Given the description of an element on the screen output the (x, y) to click on. 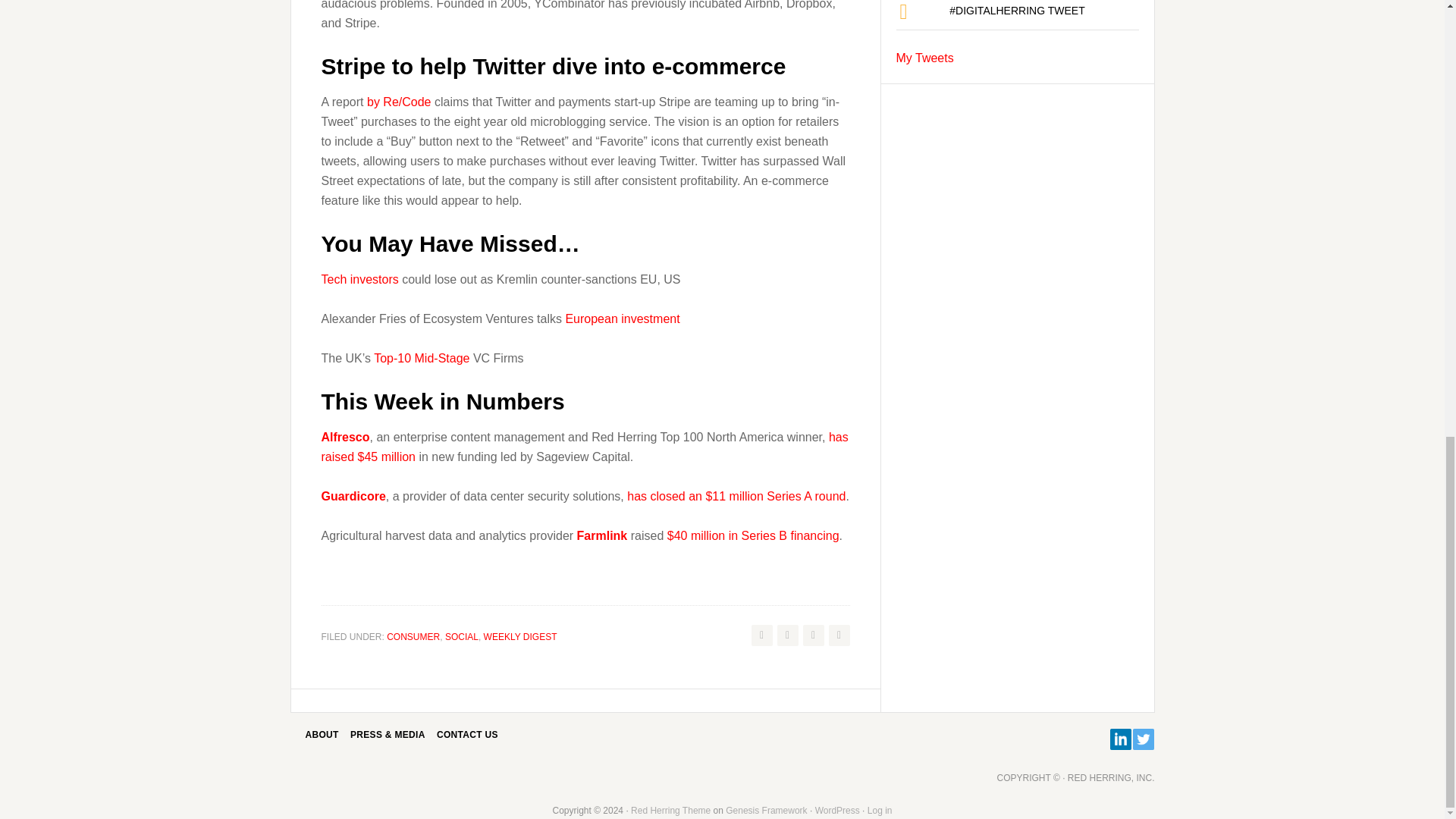
ABOUT (320, 734)
Share on LinkedIn (838, 635)
SOCIAL (462, 636)
WEEKLY DIGEST (520, 636)
Alfresco (345, 436)
My Tweets (924, 57)
Guardicore (353, 495)
Share on Facebook (786, 635)
CONSUMER (413, 636)
Top-10 Mid-Stage (421, 358)
Farmlink (603, 535)
Share on Twitter (761, 635)
CONTACT US (466, 734)
Tech investors (359, 278)
European investment (621, 318)
